Given the description of an element on the screen output the (x, y) to click on. 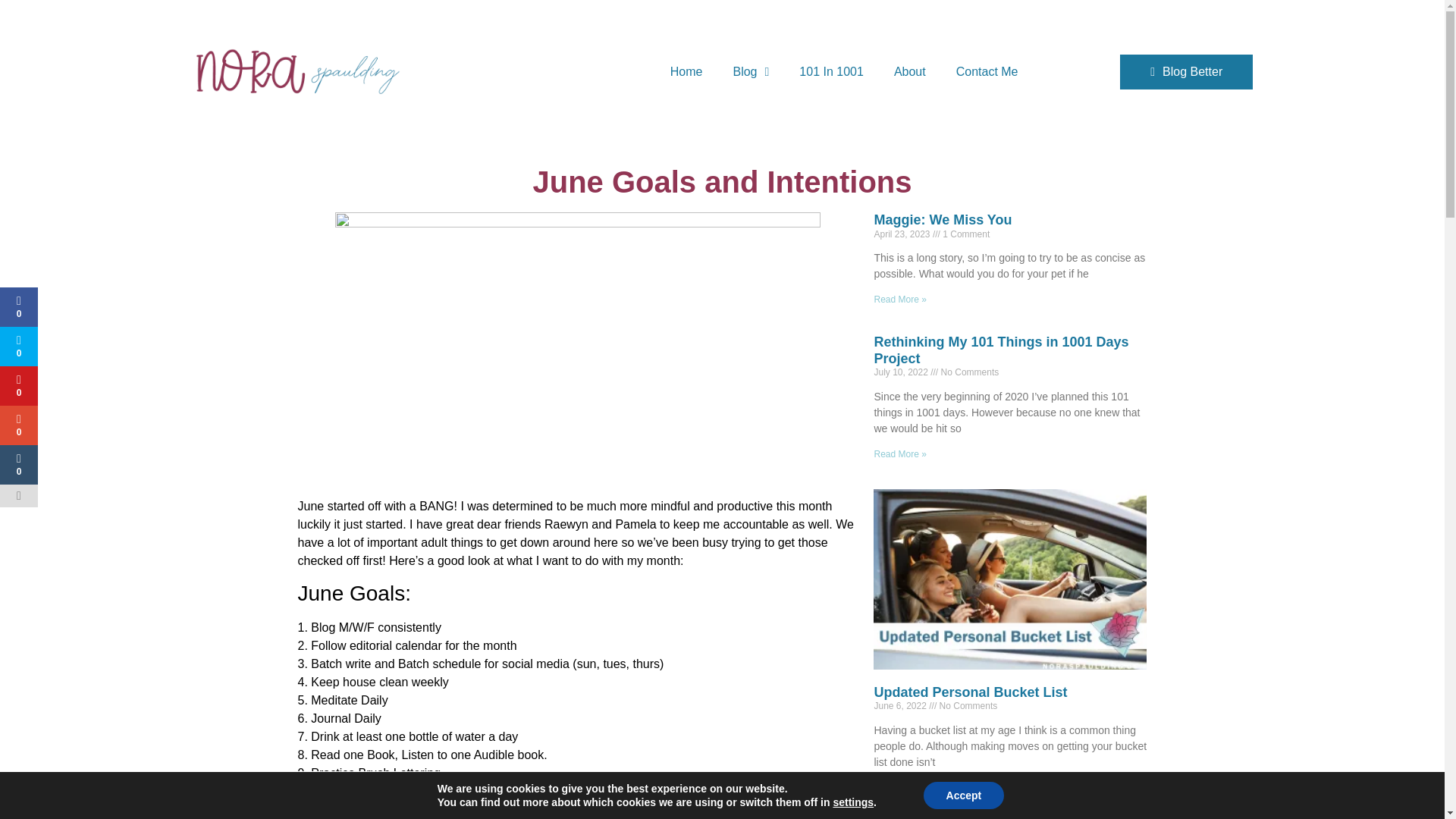
Blog Better (1185, 71)
About (909, 71)
Contact Me (986, 71)
Blog (750, 71)
101 In 1001 (831, 71)
Home (686, 71)
